Given the description of an element on the screen output the (x, y) to click on. 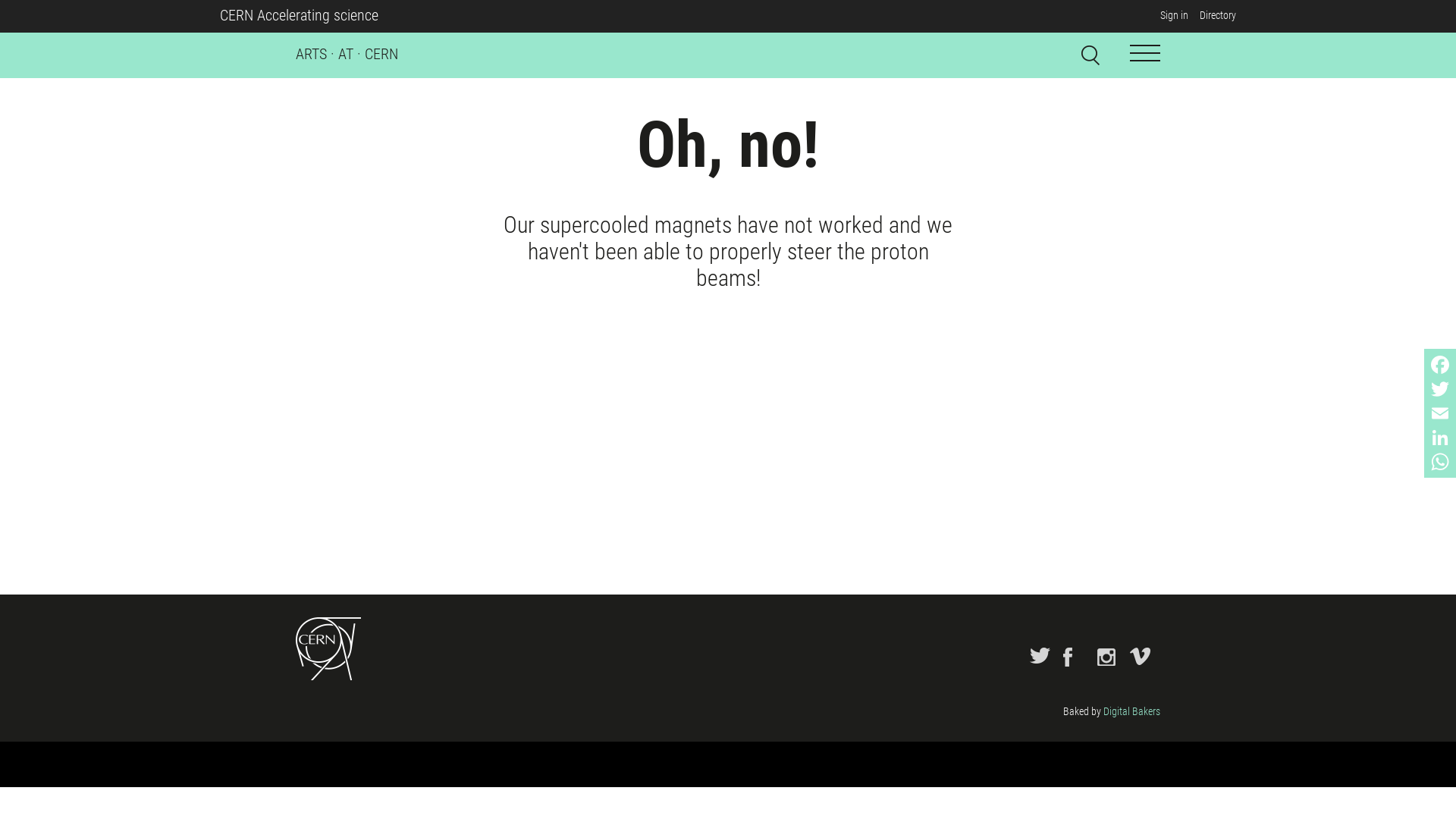
Twitter Element type: text (1439, 388)
Email Element type: text (1439, 413)
Apply Element type: text (1148, 51)
CERN Accelerating science Element type: text (298, 15)
WhatsApp Element type: text (1439, 461)
Facebook Element type: text (1439, 364)
Skip to main content Element type: text (0, 32)
LinkedIn Element type: text (1439, 437)
Digital Bakers Element type: text (1131, 711)
Sign in Element type: text (1174, 15)
Directory Element type: text (1217, 15)
